Given the description of an element on the screen output the (x, y) to click on. 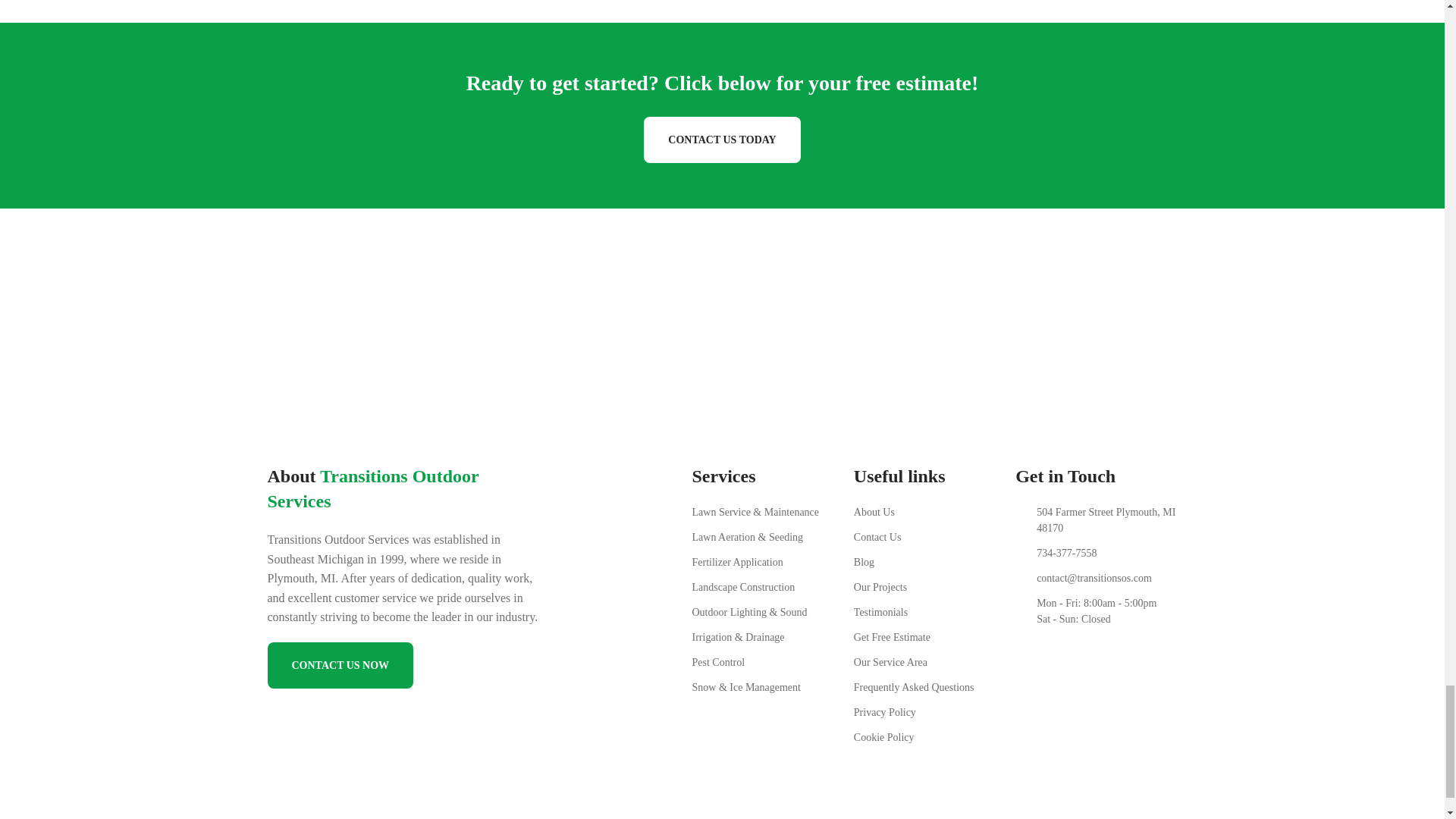
Privacy Policy  (933, 712)
CONTACT US TODAY (721, 139)
Fertilizer Application (772, 562)
Landscape Construction (772, 587)
Cookie Policy  (933, 737)
CONTACT US NOW (339, 665)
Pest Control (772, 662)
